Given the description of an element on the screen output the (x, y) to click on. 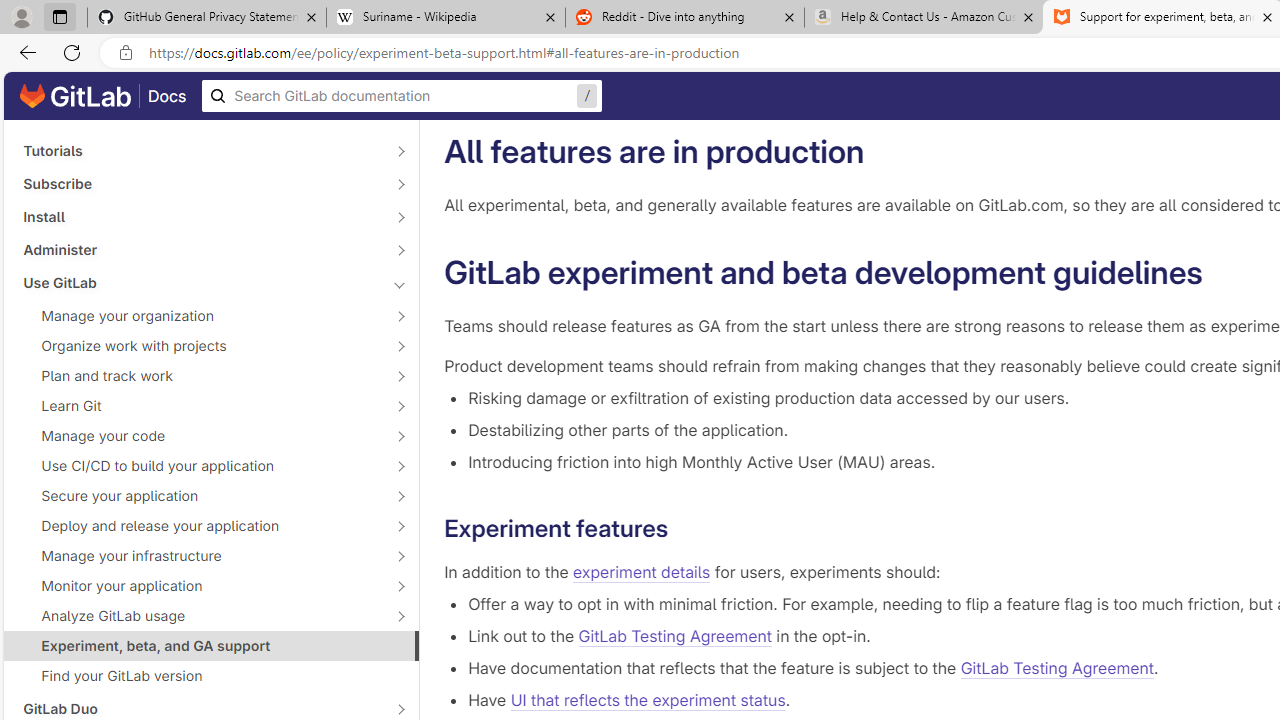
Plan and track work (199, 375)
GitLab Testing Agreement (1057, 668)
experiment details (641, 572)
/ (402, 95)
